Given the description of an element on the screen output the (x, y) to click on. 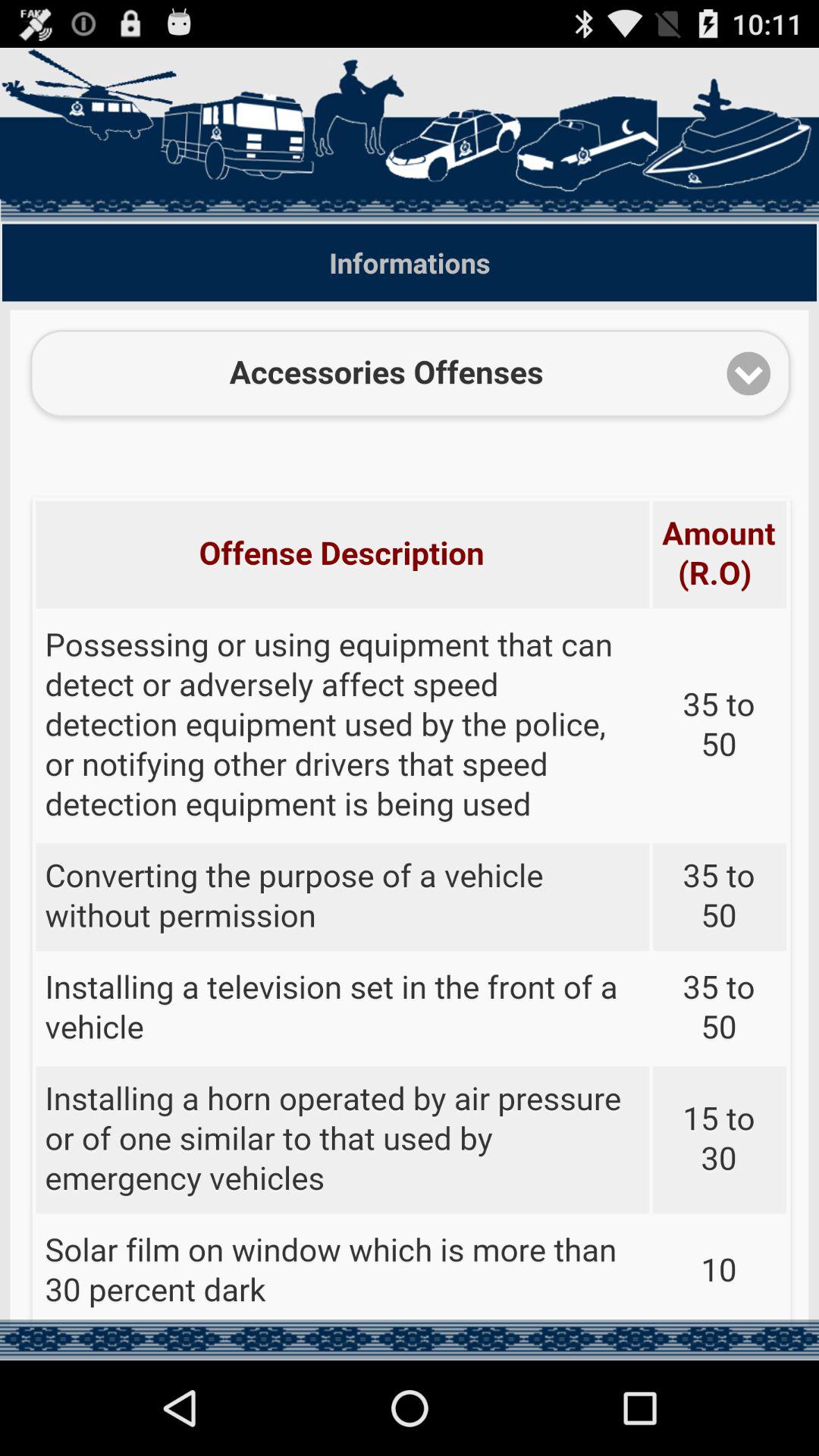
litters (409, 817)
